Given the description of an element on the screen output the (x, y) to click on. 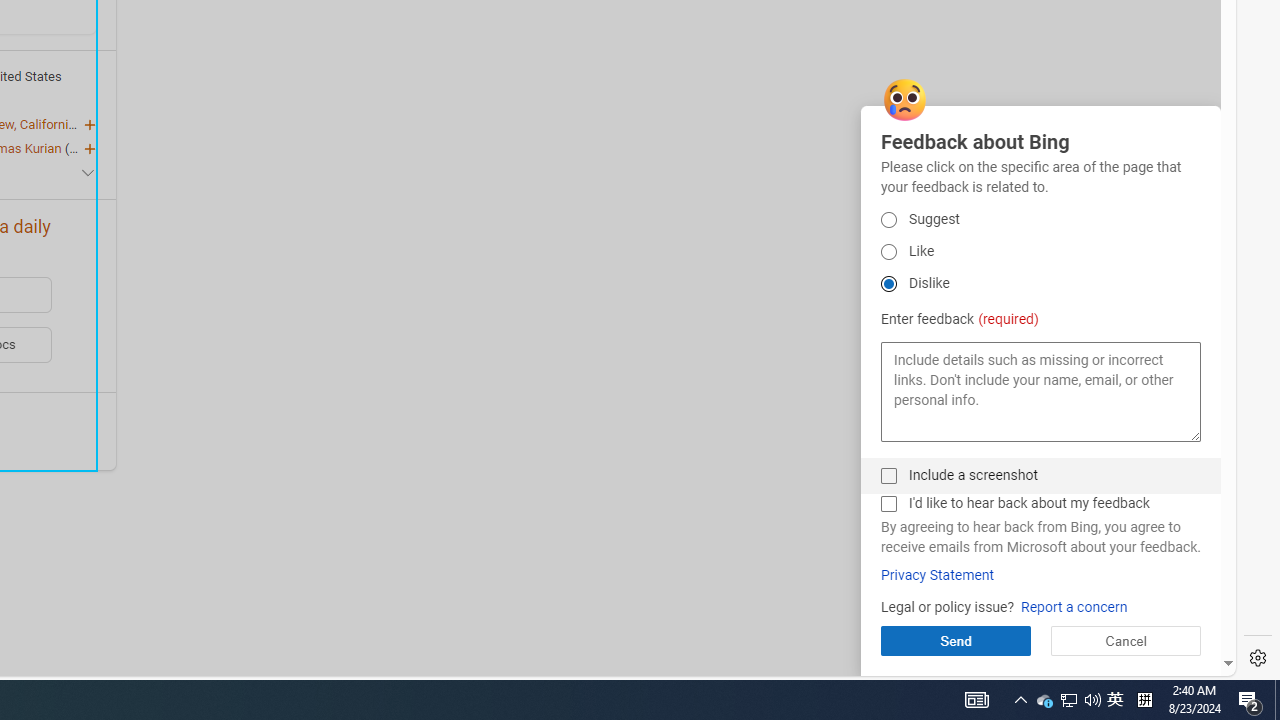
Report a concern (1074, 607)
Cancel (1125, 640)
